Given the description of an element on the screen output the (x, y) to click on. 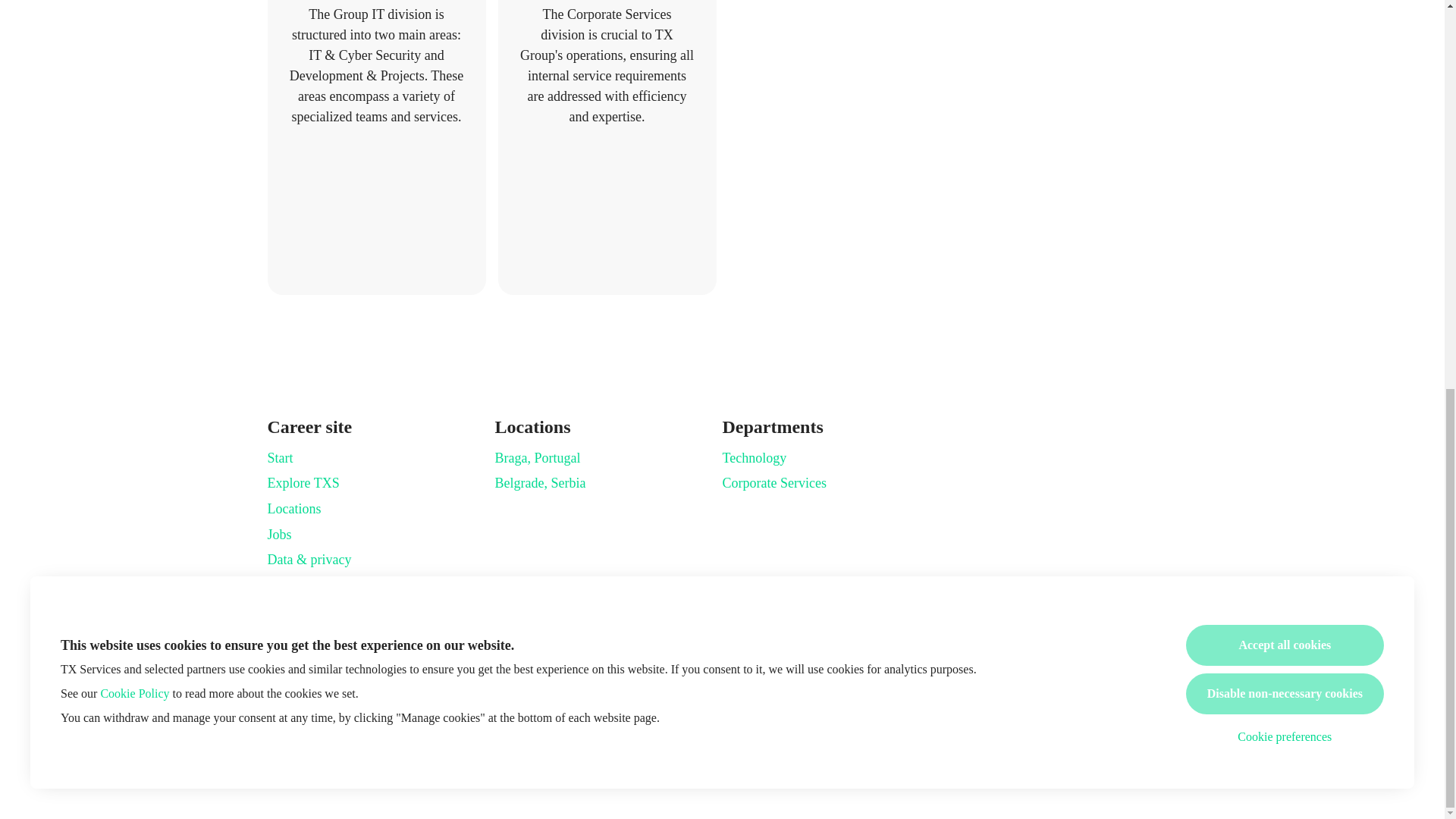
Career site by Teamtailor (722, 760)
Cookie preferences (1284, 6)
Braga, Portugal (537, 457)
Jobs (278, 534)
Start (279, 457)
Belgrade, Serbia (540, 482)
Locations (293, 508)
Explore TXS (302, 482)
Candidate Connect login (1116, 682)
Corporate Services (773, 482)
